Given the description of an element on the screen output the (x, y) to click on. 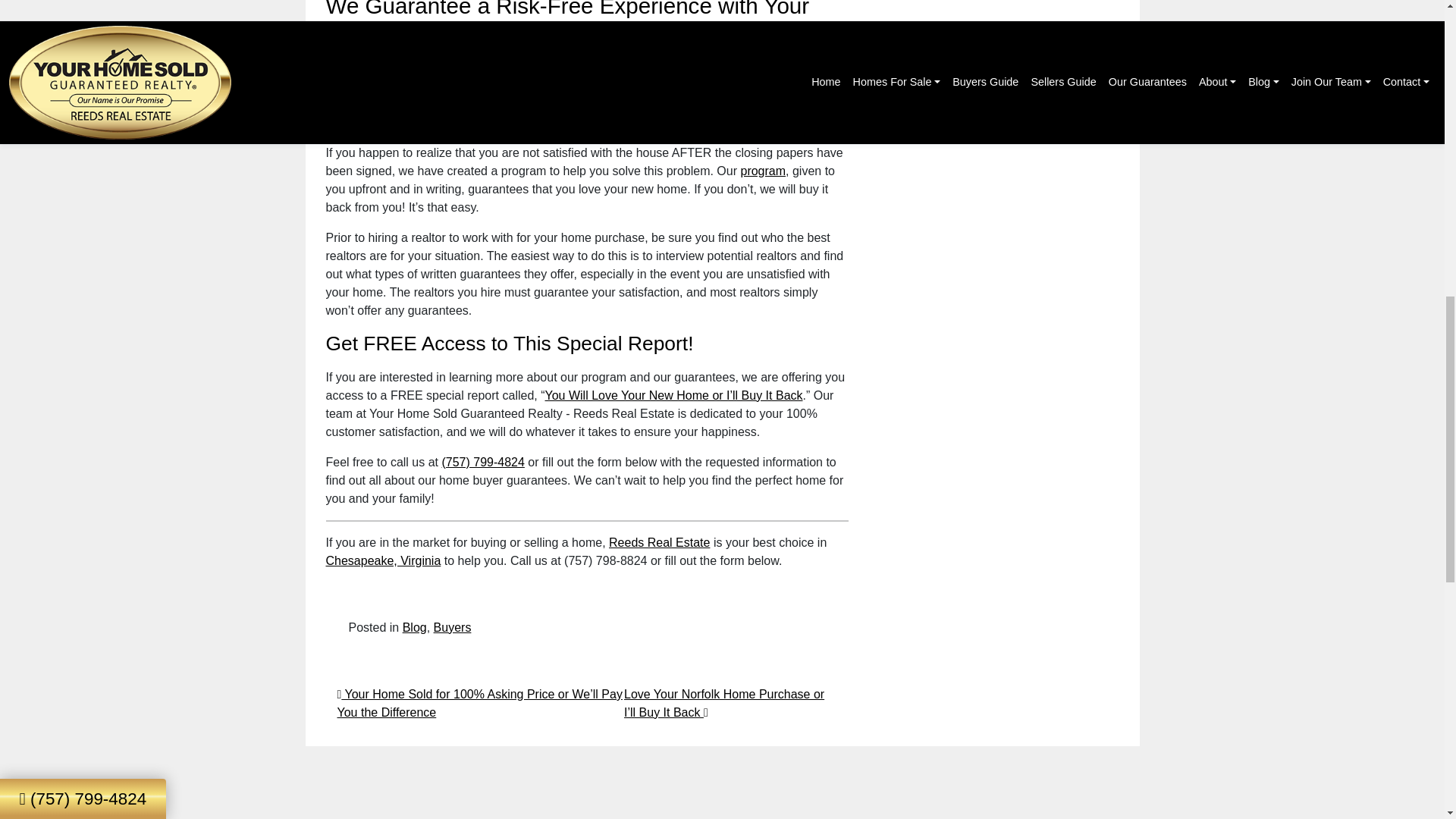
program (762, 170)
